Given the description of an element on the screen output the (x, y) to click on. 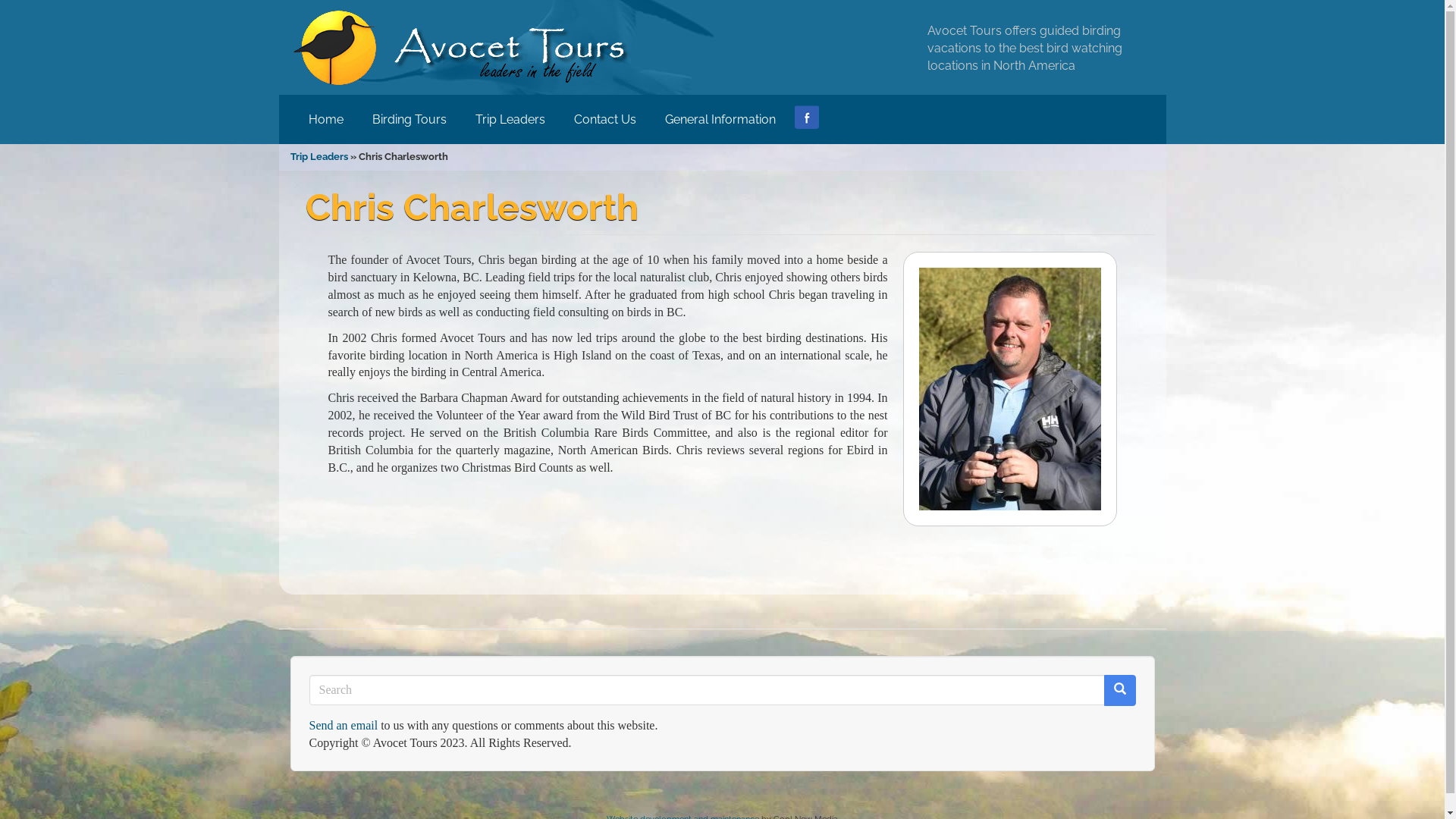
Search Element type: text (309, 706)
Trip Leaders Element type: text (510, 119)
Enter the terms you wish to search for. Element type: hover (706, 689)
Home Element type: text (325, 119)
Trip Leaders Element type: text (318, 156)
Skip to main content Element type: text (0, 0)
Contact Us Element type: text (605, 119)
General Information Element type: text (720, 119)
Home Element type: hover (465, 46)
Chris Charlesworth Element type: hover (1010, 388)
Facebook Element type: text (806, 116)
Send an email Element type: text (343, 724)
Birding Tours Element type: text (409, 119)
